Given the description of an element on the screen output the (x, y) to click on. 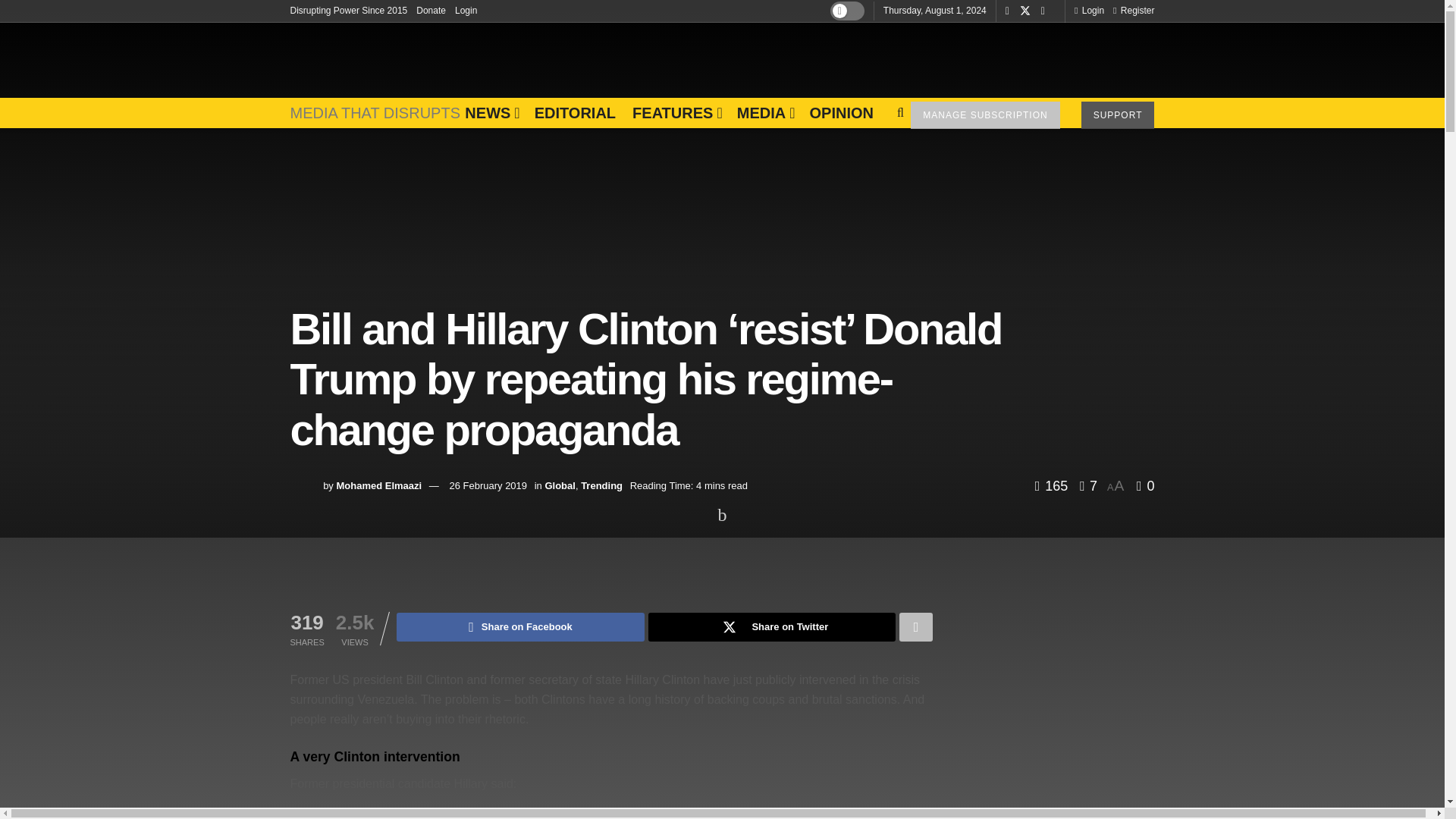
Login (465, 11)
MANAGE SUBSCRIPTION (985, 114)
SUPPORT (1117, 114)
Donate (430, 11)
NEWS (490, 112)
EDITORIAL (574, 112)
OPINION (840, 112)
Login (1088, 11)
FEATURES (675, 112)
Disrupting Power Since 2015 (348, 11)
